Given the description of an element on the screen output the (x, y) to click on. 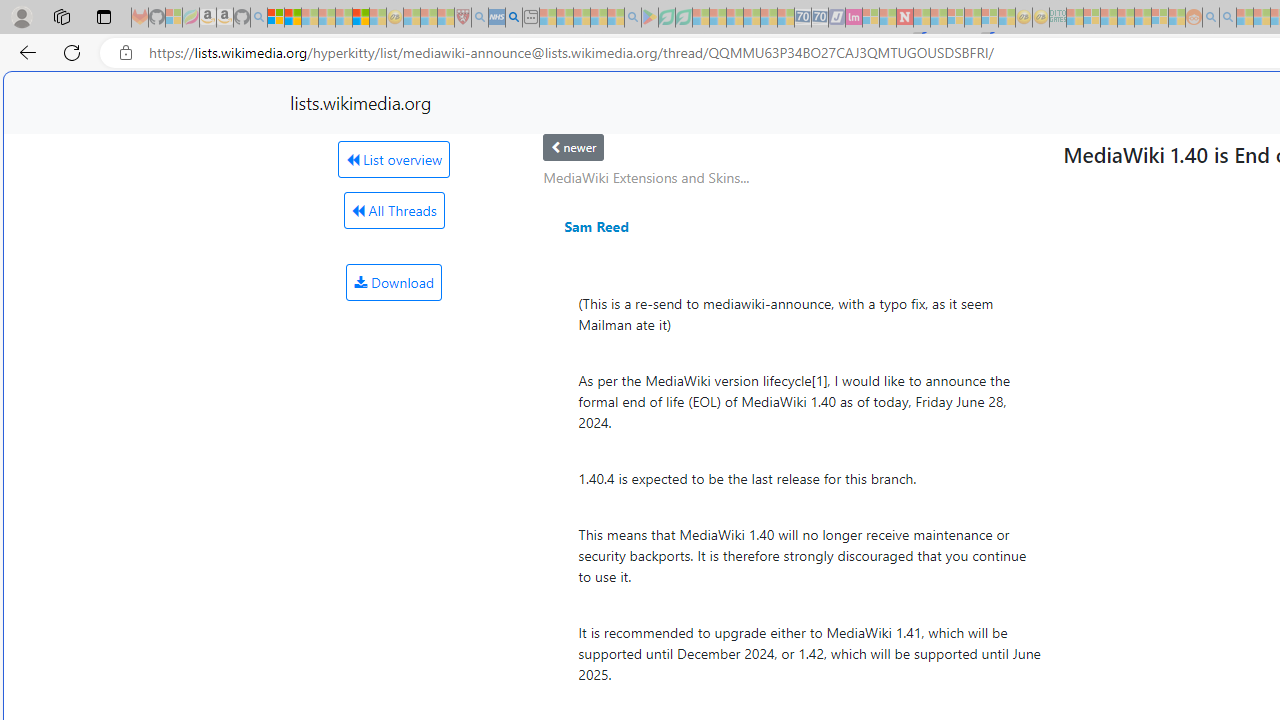
MSNBC - MSN - Sleeping (1074, 17)
Sam Reed (596, 226)
DITOGAMES AG Imprint - Sleeping (1057, 17)
utah sues federal government - Search (513, 17)
lists.wikimedia.org (360, 102)
Cheap Car Rentals - Save70.com - Sleeping (802, 17)
